Given the description of an element on the screen output the (x, y) to click on. 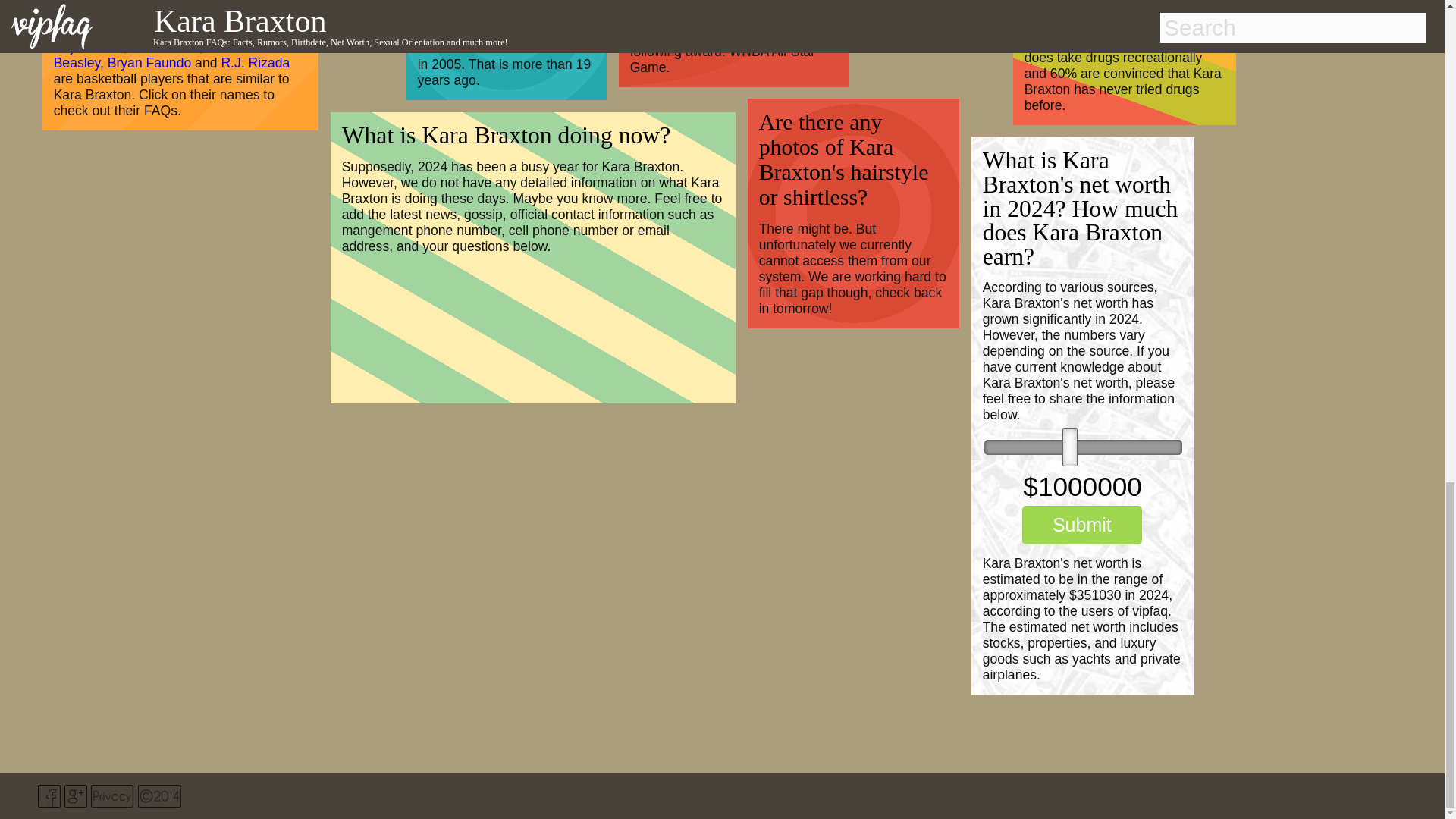
R.J. Rizada (255, 62)
Dejan Musli (88, 46)
Bryan Faundo (149, 62)
6 (1083, 447)
Michael Beasley (153, 54)
Submit (1081, 525)
Kalin Lucas (165, 46)
